Given the description of an element on the screen output the (x, y) to click on. 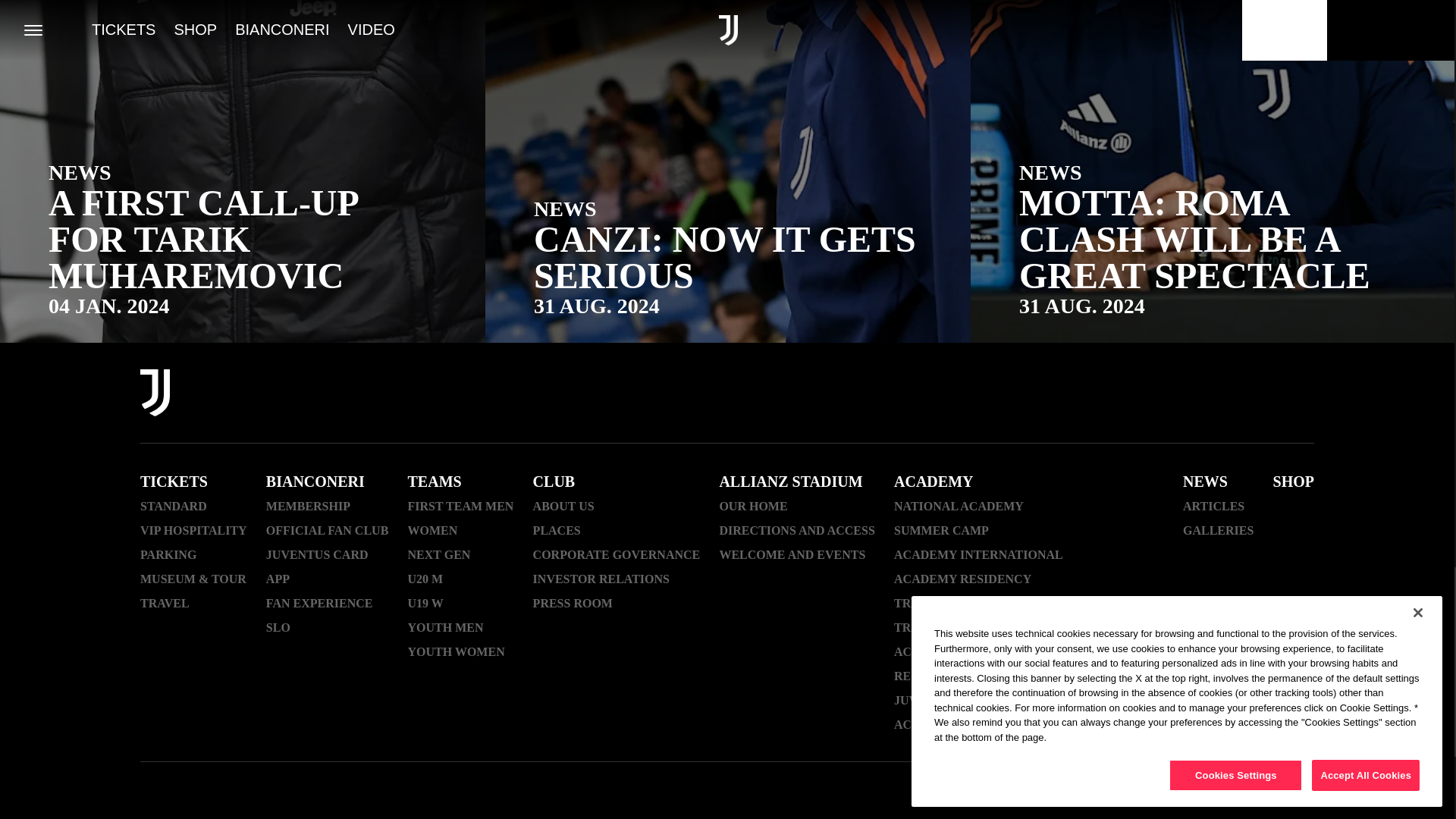
Instagram (1064, 395)
Threads (1104, 395)
Facebook (1025, 395)
